Given the description of an element on the screen output the (x, y) to click on. 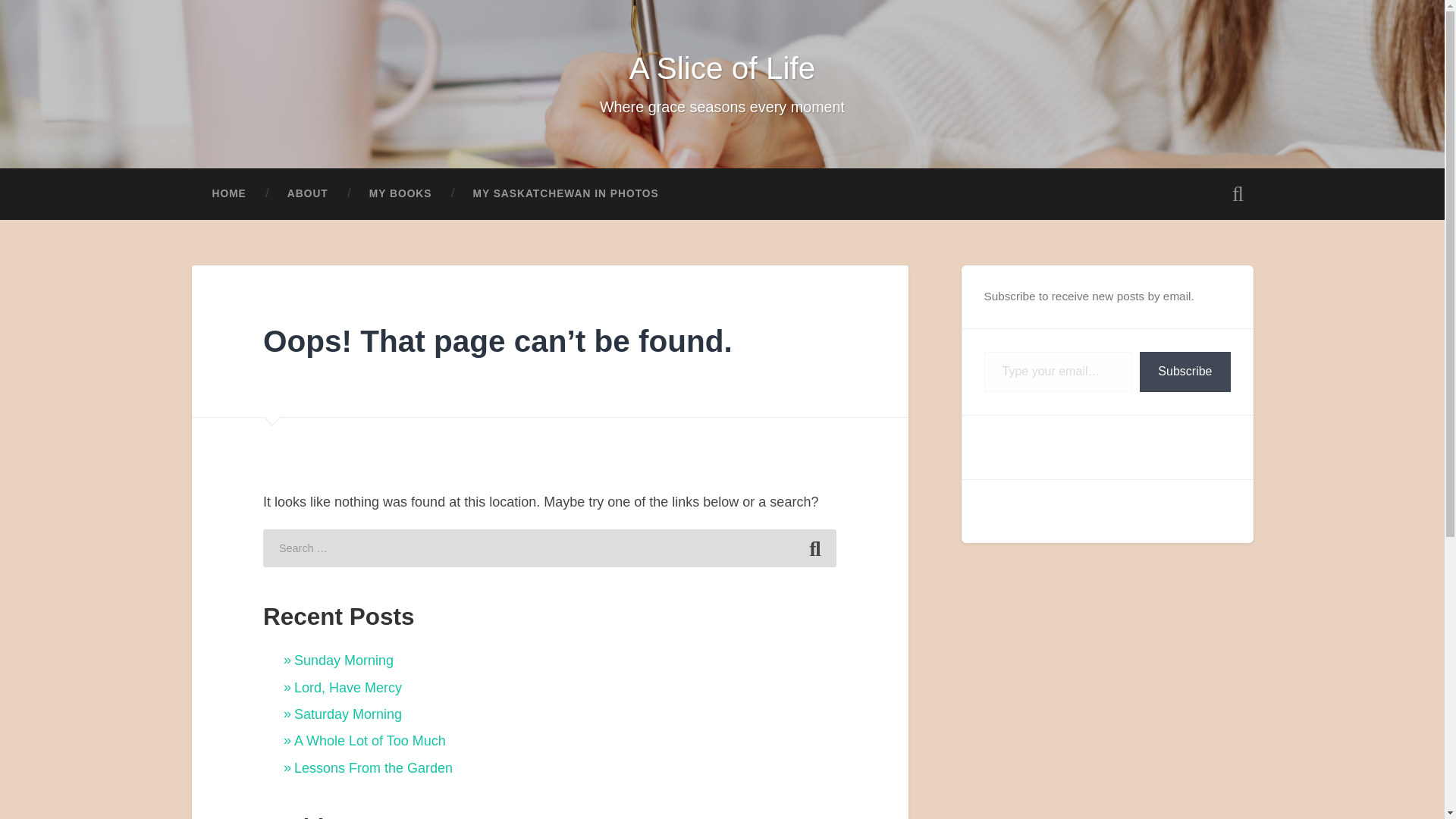
Follow Button (1107, 445)
Search (815, 547)
HOME (228, 194)
A Whole Lot of Too Much (369, 740)
Search (815, 547)
Saturday Morning (347, 713)
ABOUT (307, 194)
MY SASKATCHEWAN IN PHOTOS (564, 194)
Subscribe (1185, 372)
Search (815, 547)
Open Search (1237, 194)
MY BOOKS (400, 194)
Lessons From the Garden (373, 767)
A Slice of Life (721, 67)
Sunday Morning (343, 660)
